Given the description of an element on the screen output the (x, y) to click on. 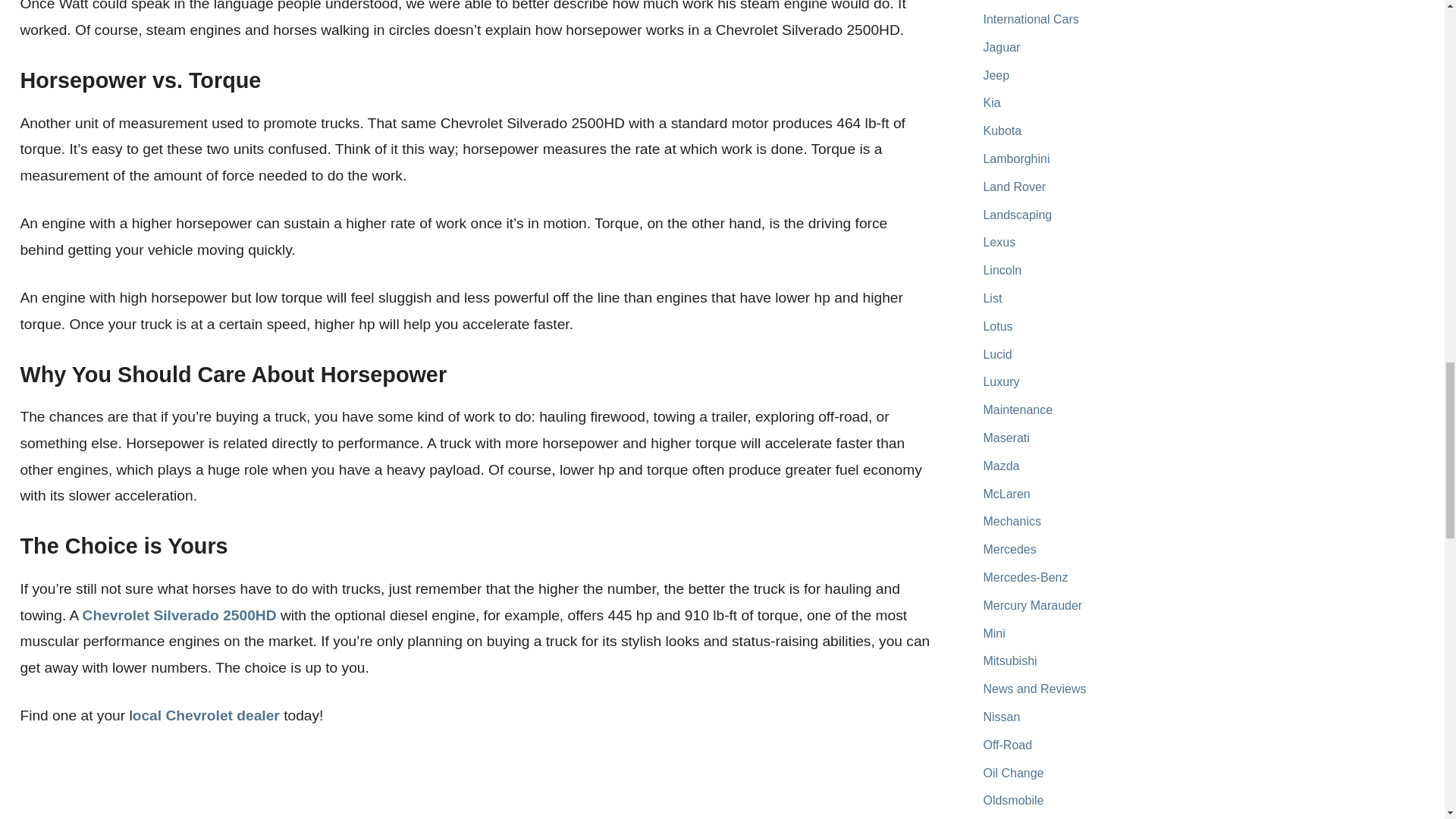
ocal Chevrolet dealer (205, 715)
2021 Chevy Silverado 2500HD High Country - Duramax Diesel (280, 785)
Chevrolet Silverado 2500HD (179, 615)
